Given the description of an element on the screen output the (x, y) to click on. 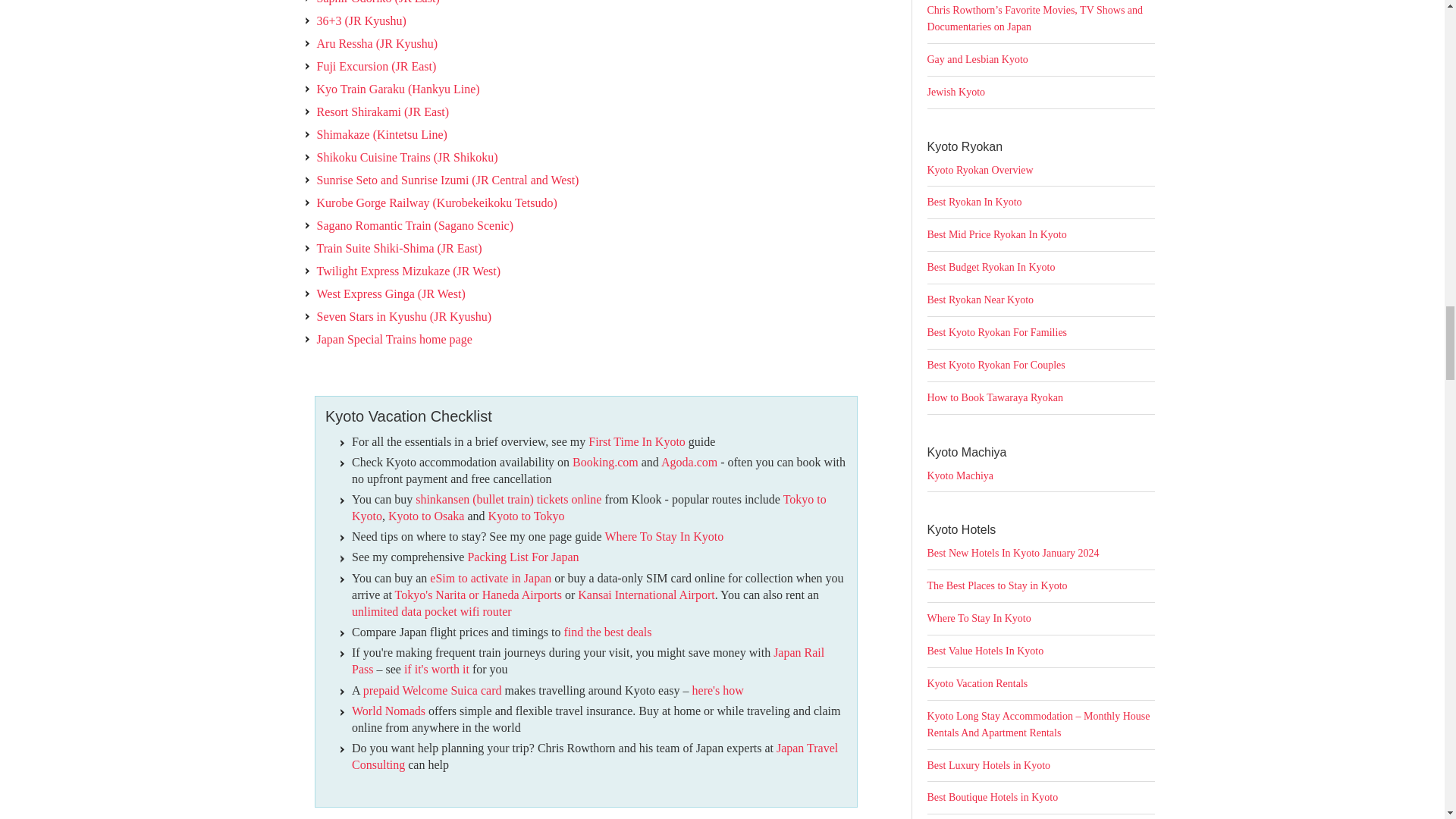
Japan Special Trains home page (394, 338)
Tokyo to Kyoto (589, 507)
Agoda.com (689, 461)
Booking.com (605, 461)
Kyoto to Osaka (426, 515)
Kyoto to Tokyo (525, 515)
First Time In Kyoto (636, 440)
